Given the description of an element on the screen output the (x, y) to click on. 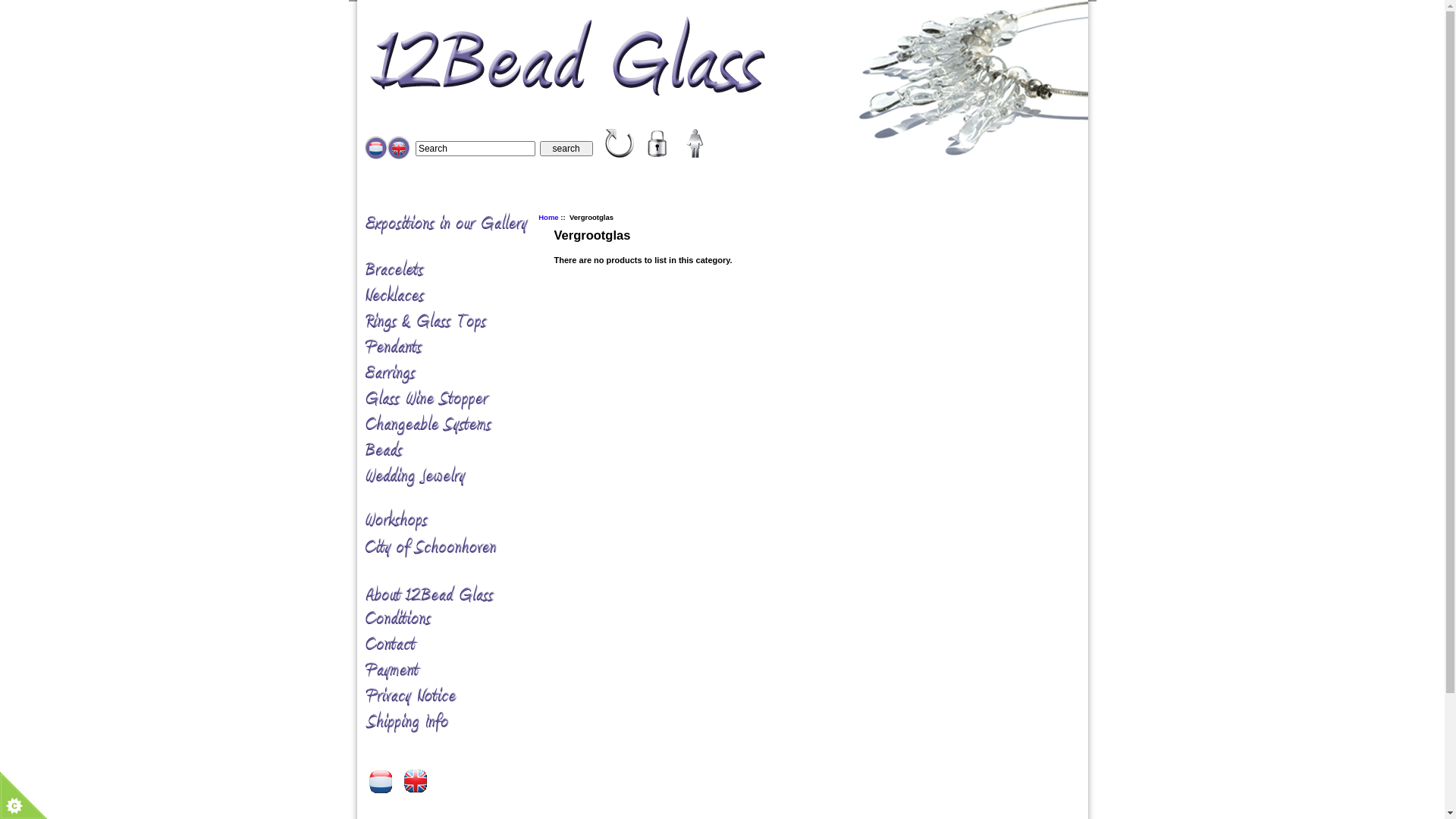
Changeable systems Element type: hover (456, 425)
Wedding jewelry Element type: hover (456, 476)
Privacy Notice Element type: hover (456, 696)
Beads Element type: hover (456, 451)
City of Schoonhoven Element type: hover (456, 548)
Account Element type: hover (694, 142)
Contact Element type: hover (456, 645)
About 12Bead Glass Element type: hover (456, 583)
Necklaces Element type: hover (456, 296)
 Nederlands  Element type: hover (380, 781)
Workshops Element type: hover (456, 512)
Nederlands Element type: hover (375, 147)
Earrings Element type: hover (456, 373)
Shipping Info Element type: hover (456, 722)
Bracelets Element type: hover (456, 270)
search Element type: text (566, 148)
 English  Element type: hover (413, 777)
English Element type: hover (397, 147)
Glass Wine Stopper Element type: hover (456, 399)
Rings & Glass Tops Element type: hover (456, 322)
12Bead Glass Element type: hover (619, 142)
Home Element type: text (548, 217)
Expositions in our gallery Element type: hover (456, 234)
Inloggen Element type: hover (657, 142)
Pendants Element type: hover (456, 347)
Payment Element type: hover (456, 671)
Conditions Element type: hover (456, 619)
